Given the description of an element on the screen output the (x, y) to click on. 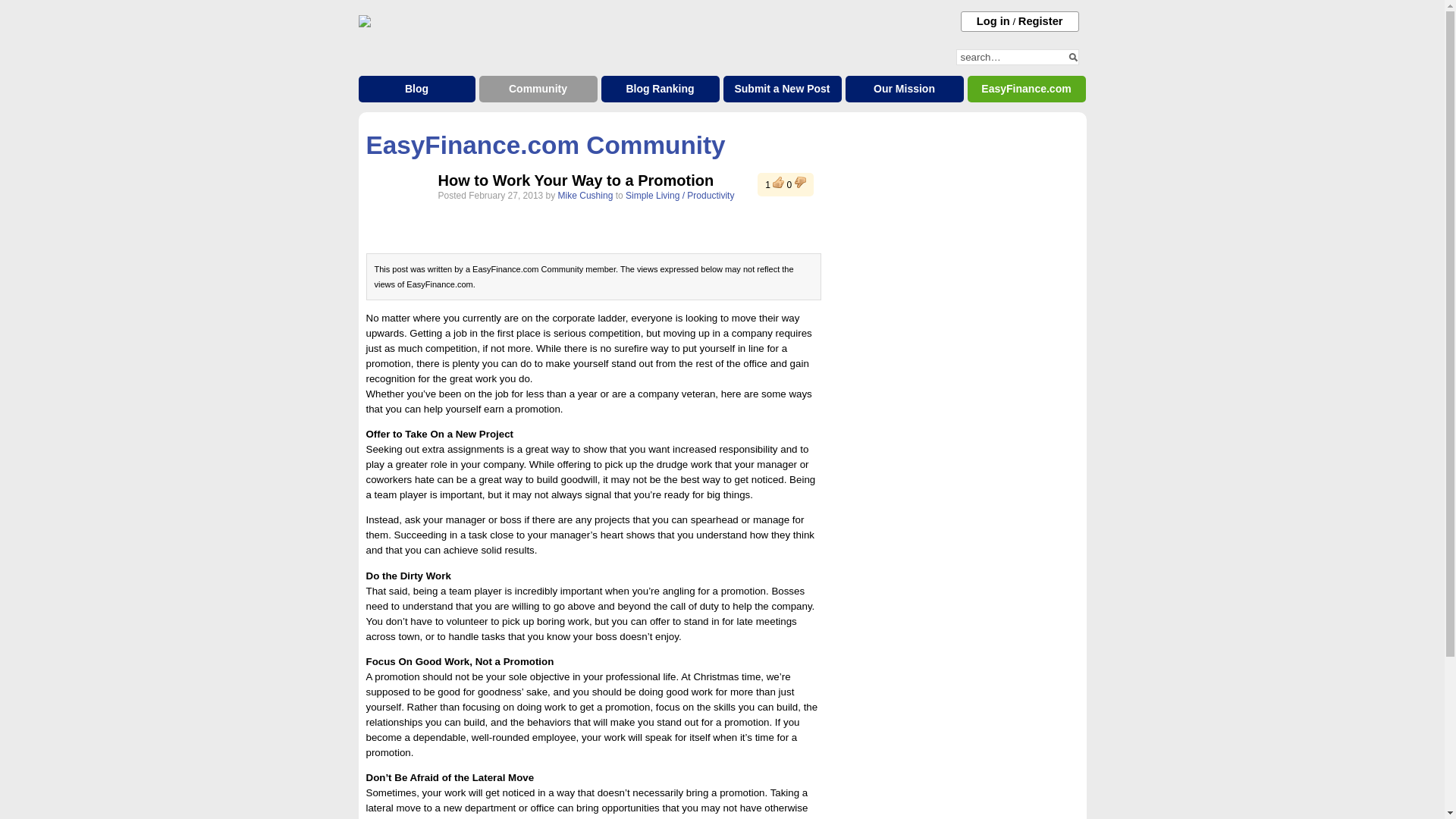
Community (537, 89)
Mike Cushing (584, 195)
Blog (416, 89)
Blog Ranking (659, 89)
